Given the description of an element on the screen output the (x, y) to click on. 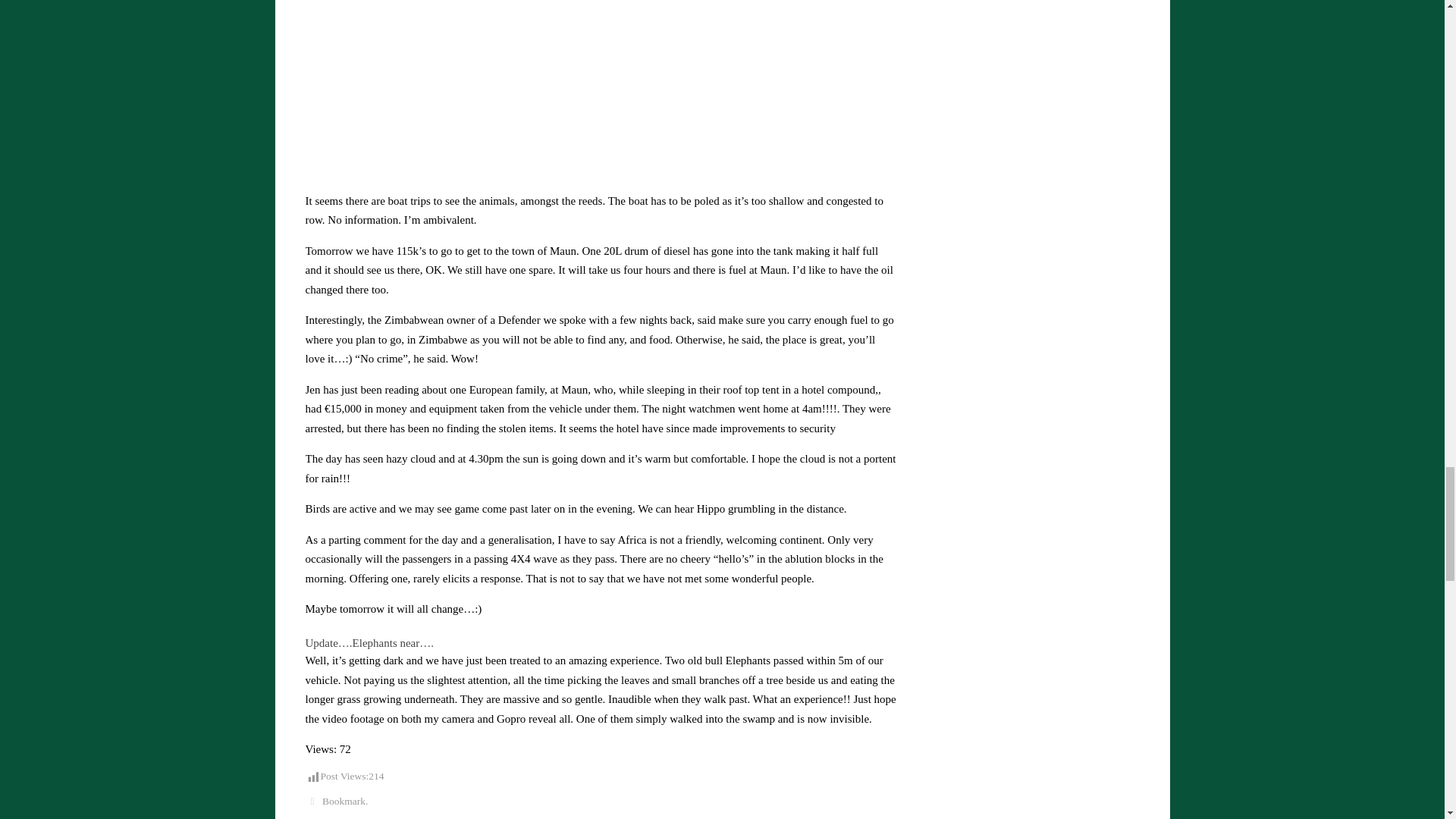
Bookmark (343, 800)
 Bookmark the permalink (311, 800)
